Given the description of an element on the screen output the (x, y) to click on. 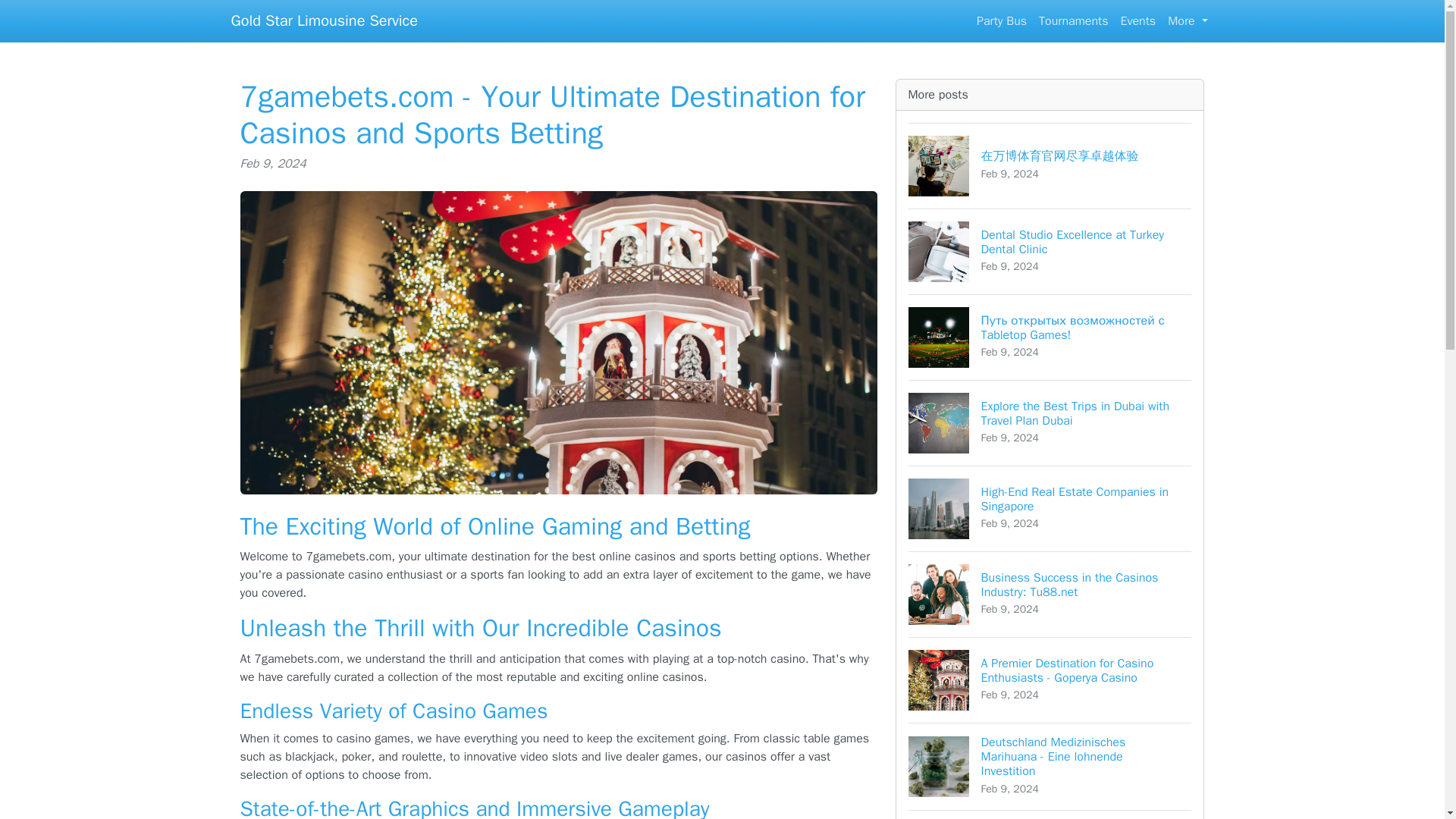
Party Bus (1001, 20)
Tournaments (1050, 508)
Events (1072, 20)
Gold Star Limousine Service (1050, 251)
More (1050, 814)
